Given the description of an element on the screen output the (x, y) to click on. 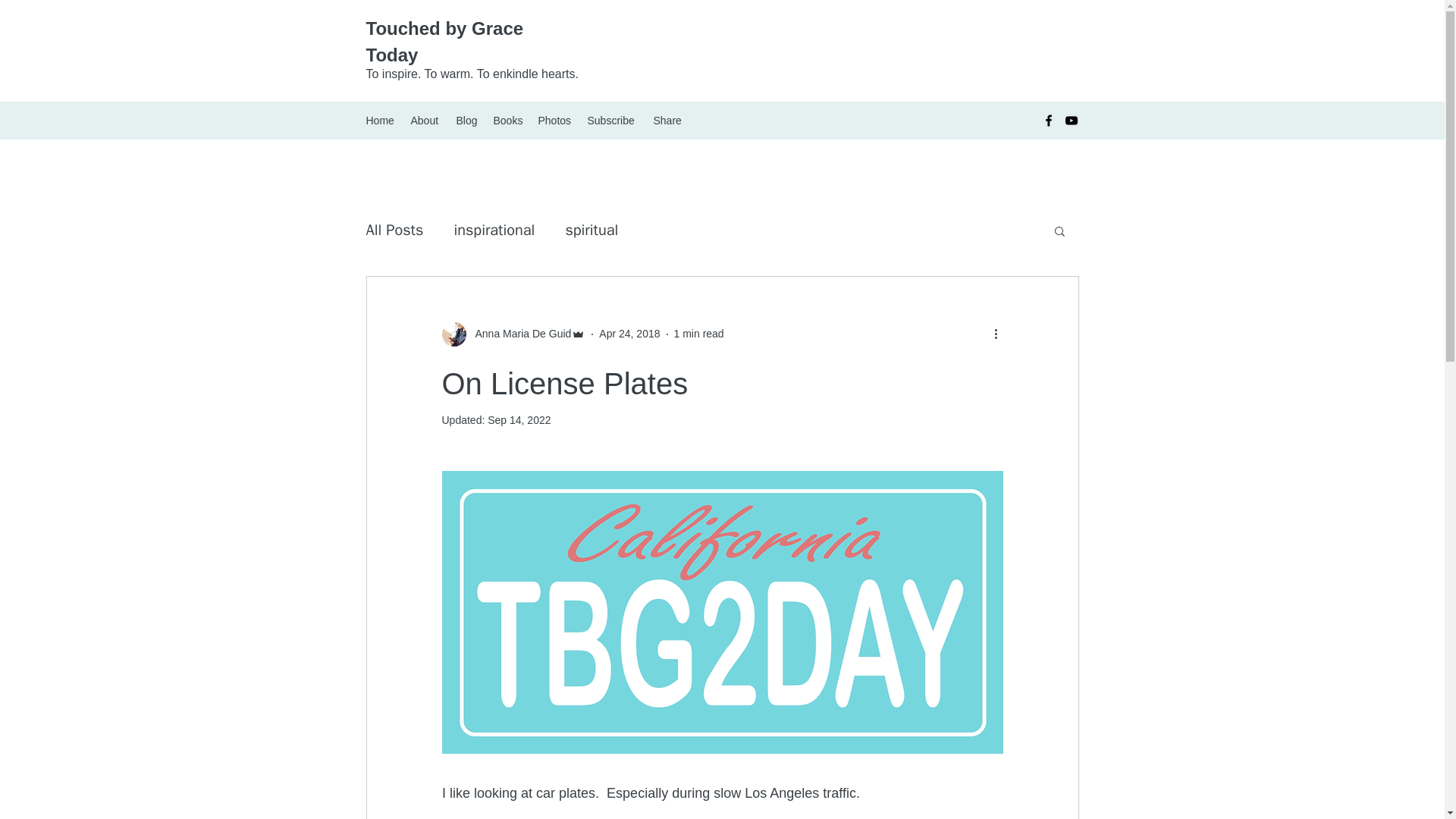
Books (506, 119)
Share (668, 119)
1 min read (698, 333)
Apr 24, 2018 (628, 333)
Subscribe (612, 119)
Home (380, 119)
Sep 14, 2022 (518, 419)
All Posts (394, 230)
Anna Maria De Guid (517, 333)
About (425, 119)
